Given the description of an element on the screen output the (x, y) to click on. 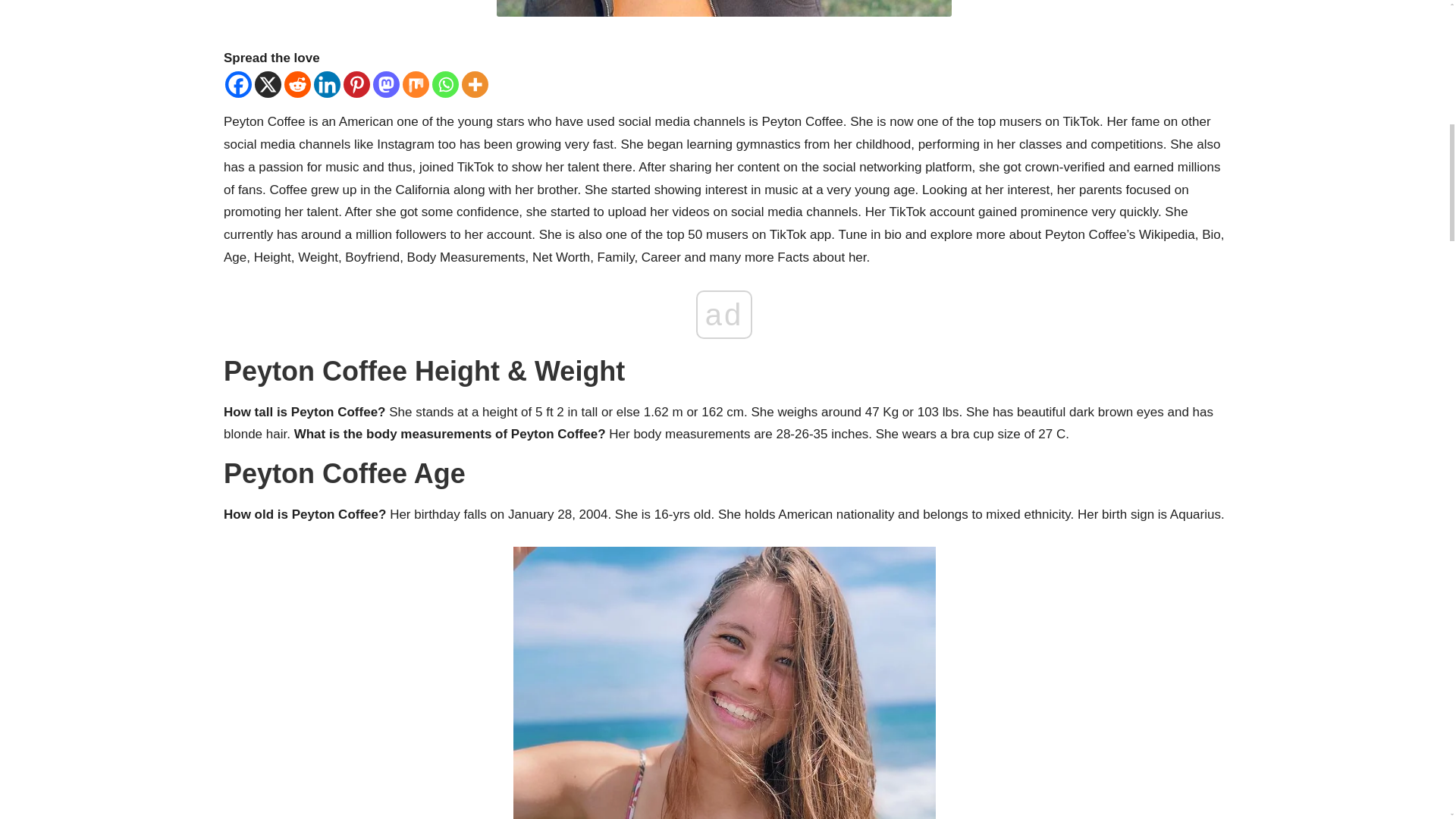
Mix (416, 84)
X (267, 84)
More (474, 84)
Mastodon (385, 84)
Pinterest (356, 84)
Linkedin (327, 84)
Whatsapp (445, 84)
Reddit (297, 84)
Facebook (238, 84)
